Given the description of an element on the screen output the (x, y) to click on. 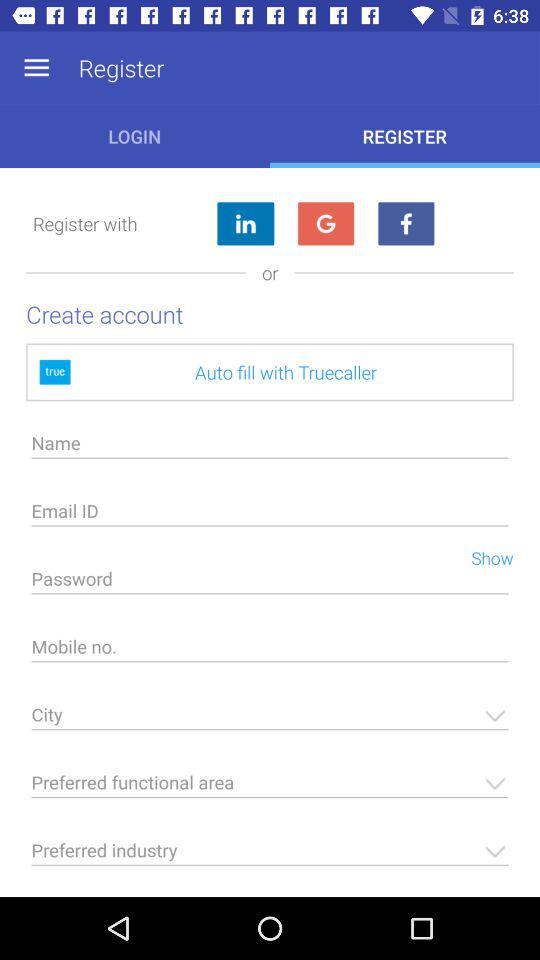
register using linkedin account (245, 224)
